Given the description of an element on the screen output the (x, y) to click on. 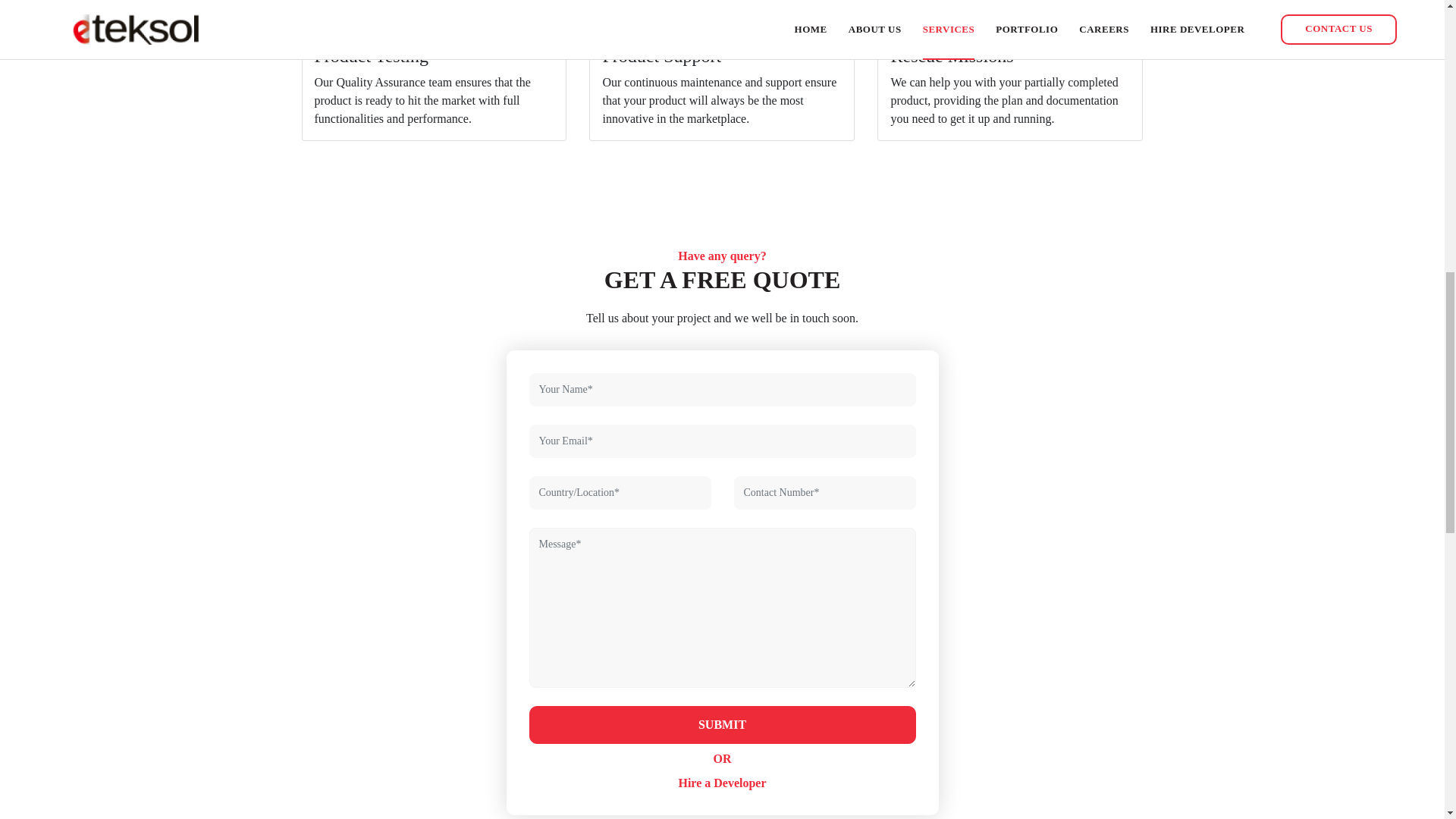
SUBMIT (722, 724)
Hire a Developer (721, 782)
